Given the description of an element on the screen output the (x, y) to click on. 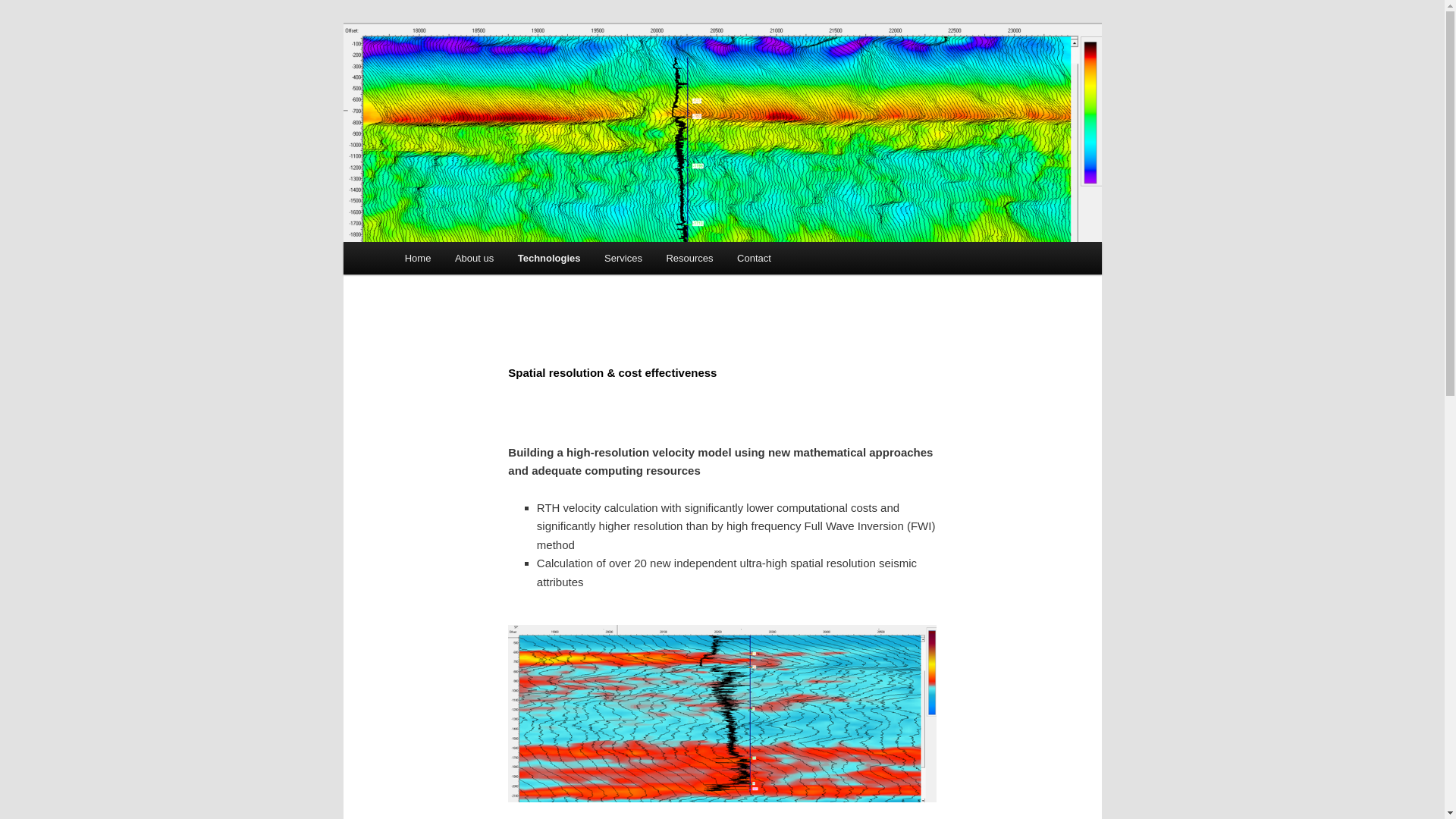
Contact (754, 257)
About us (473, 257)
Home (417, 257)
Resources (689, 257)
Technologies (548, 257)
Services (622, 257)
RTH (423, 78)
